Given the description of an element on the screen output the (x, y) to click on. 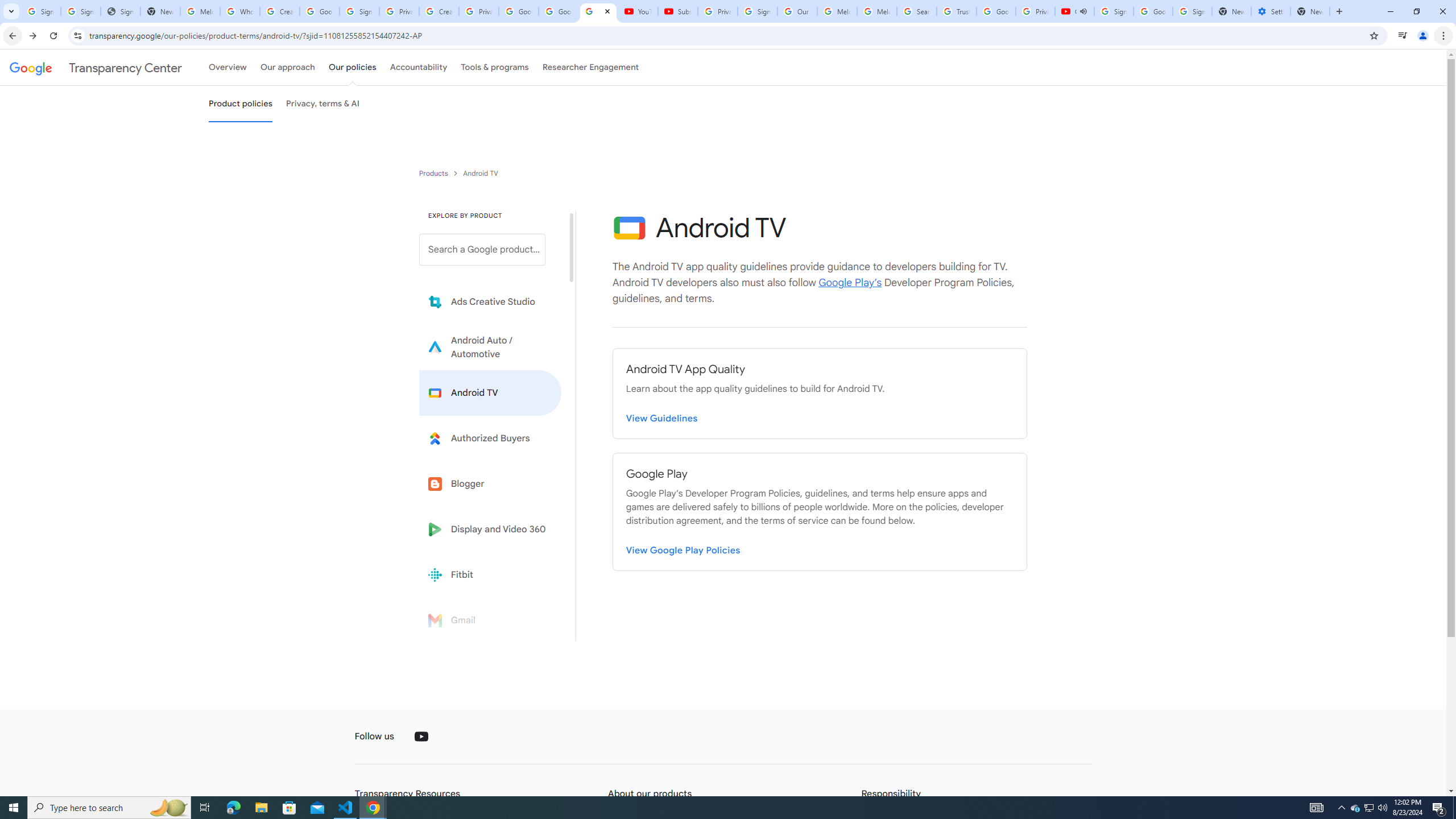
Accountability (418, 67)
Create your Google Account (438, 11)
Our policies (351, 67)
Researcher Engagement (590, 67)
New Tab (1310, 11)
Sign in - Google Accounts (757, 11)
Display and Video 360 (490, 529)
